Given the description of an element on the screen output the (x, y) to click on. 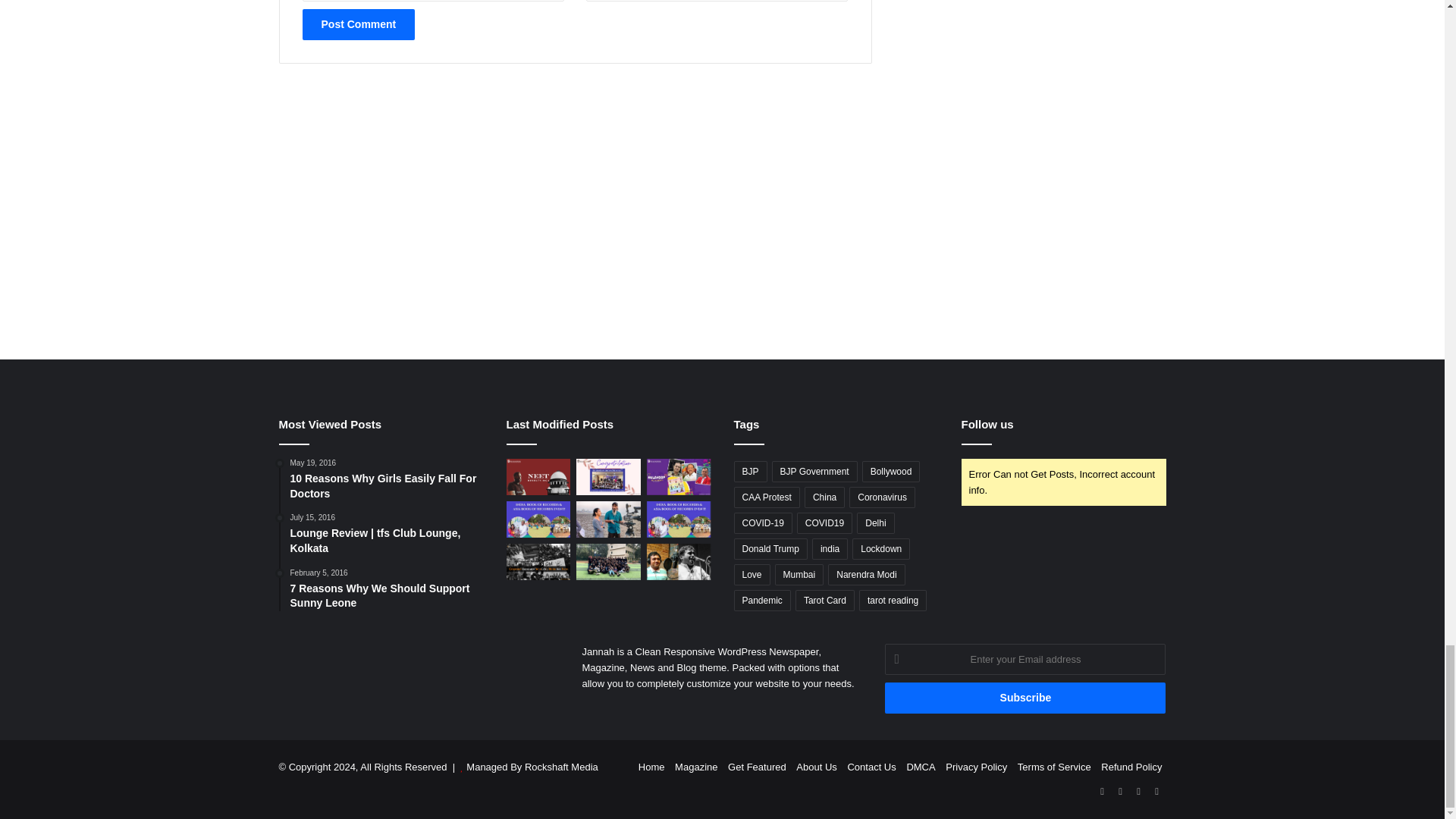
Post Comment (357, 24)
Subscribe (1025, 697)
